Given the description of an element on the screen output the (x, y) to click on. 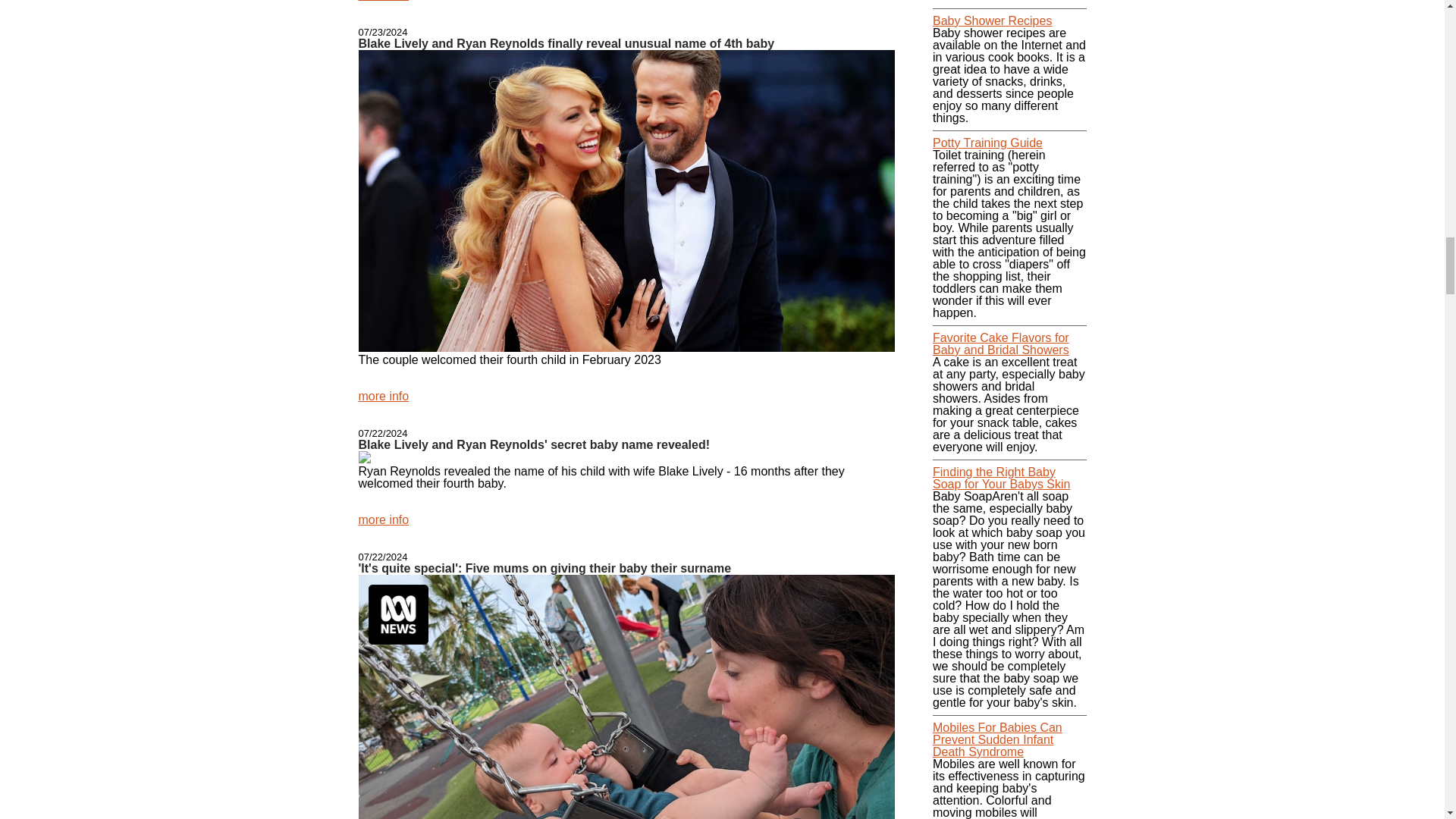
more info (383, 395)
more info (383, 519)
more info (383, 0)
